Given the description of an element on the screen output the (x, y) to click on. 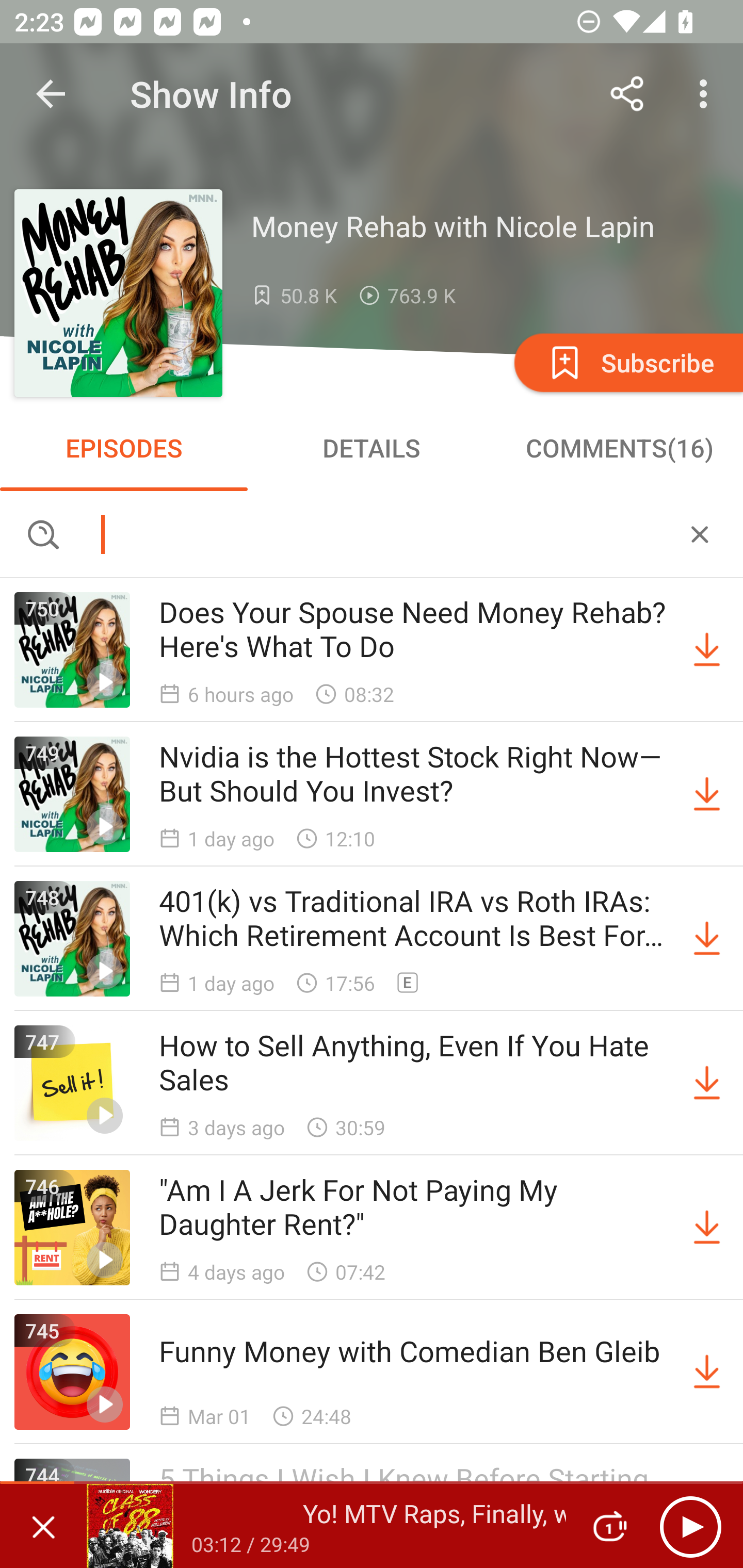
Navigate up (50, 93)
Share (626, 93)
More options (706, 93)
Subscribe (627, 361)
EPISODES (123, 447)
DETAILS (371, 447)
COMMENTS(16) (619, 447)
 CANCEL (699, 533)
Search (371, 533)
Download (706, 649)
Download (706, 793)
Download (706, 939)
Download (706, 1083)
Download (706, 1227)
Download (706, 1371)
Play (690, 1526)
